Given the description of an element on the screen output the (x, y) to click on. 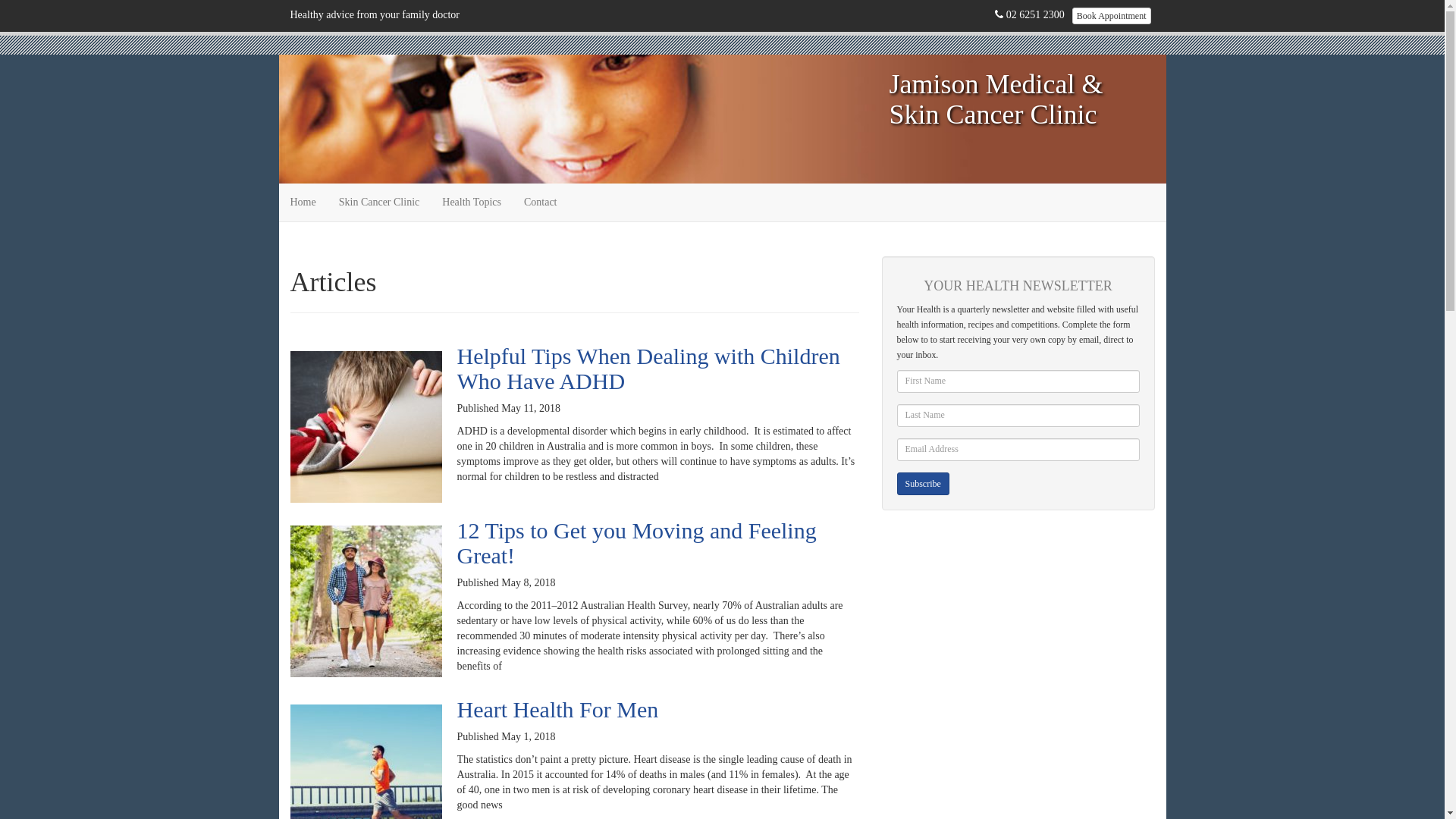
Health Topics Element type: text (471, 202)
Home Element type: text (303, 202)
Book Appointment Element type: text (1111, 15)
Heart Health For Men Element type: text (557, 708)
12 Tips to Get you Moving and Feeling Great! Element type: text (635, 542)
Skin Cancer Clinic Element type: text (379, 202)
Subscribe Element type: text (922, 483)
Helpful Tips When Dealing with Children Who Have ADHD Element type: text (647, 368)
Contact Element type: text (540, 202)
